Given the description of an element on the screen output the (x, y) to click on. 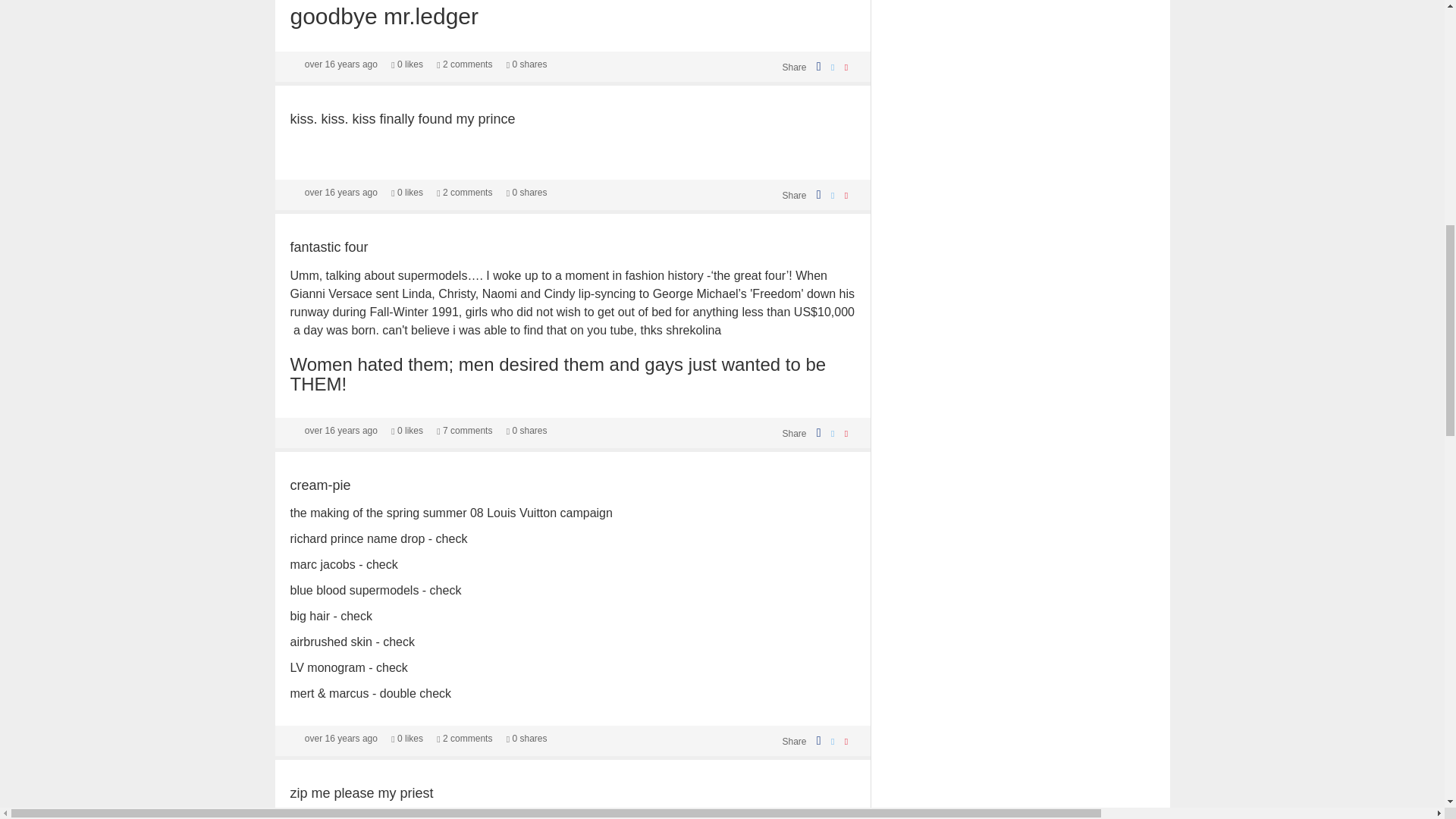
over 16 years ago (340, 63)
over 16 years ago (340, 192)
 2 comments (464, 63)
 7 comments (464, 430)
 2 comments (464, 738)
over 16 years ago (340, 738)
over 16 years ago (340, 430)
 2 comments (464, 192)
